Given the description of an element on the screen output the (x, y) to click on. 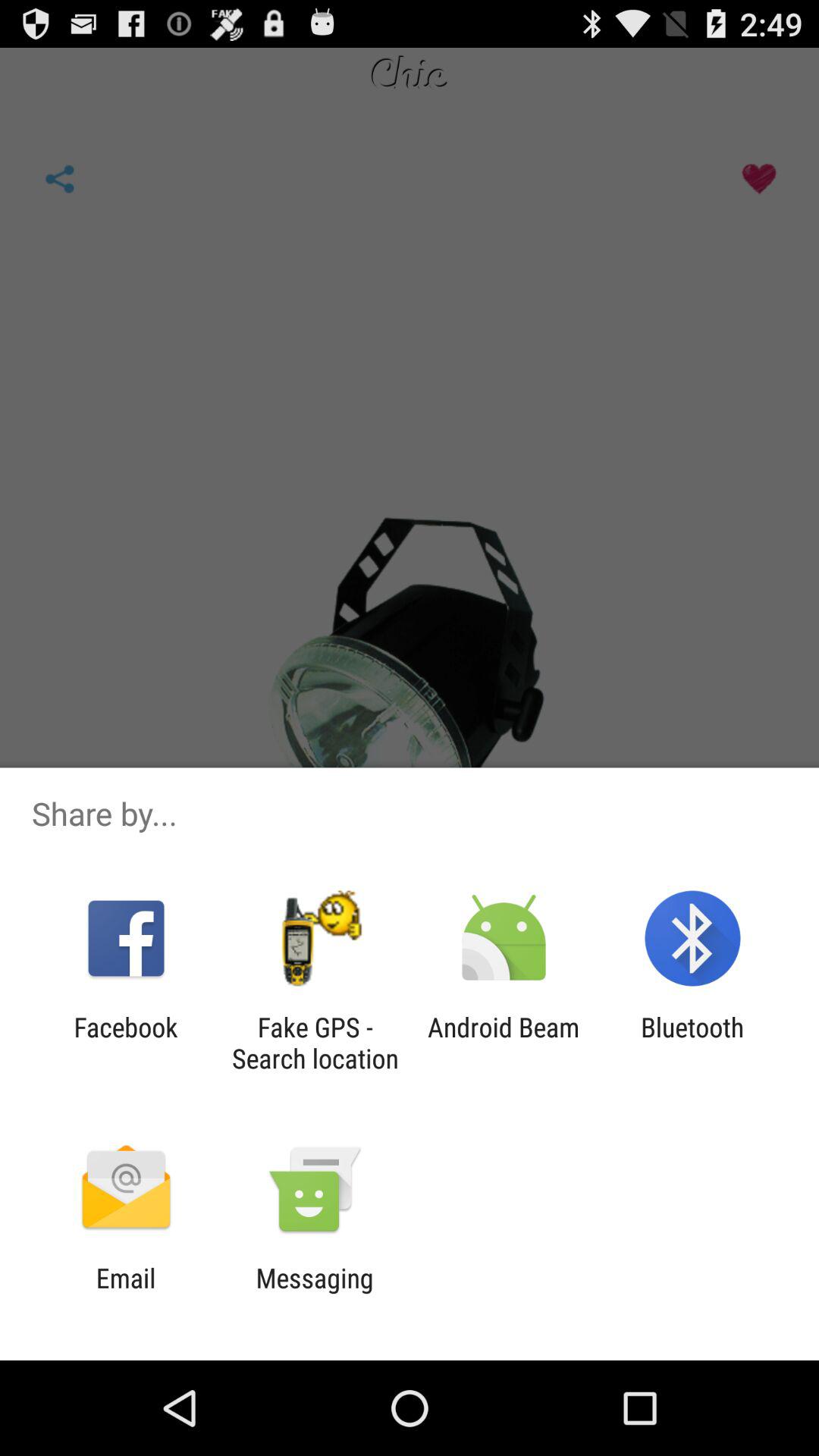
select app next to the fake gps search icon (125, 1042)
